Given the description of an element on the screen output the (x, y) to click on. 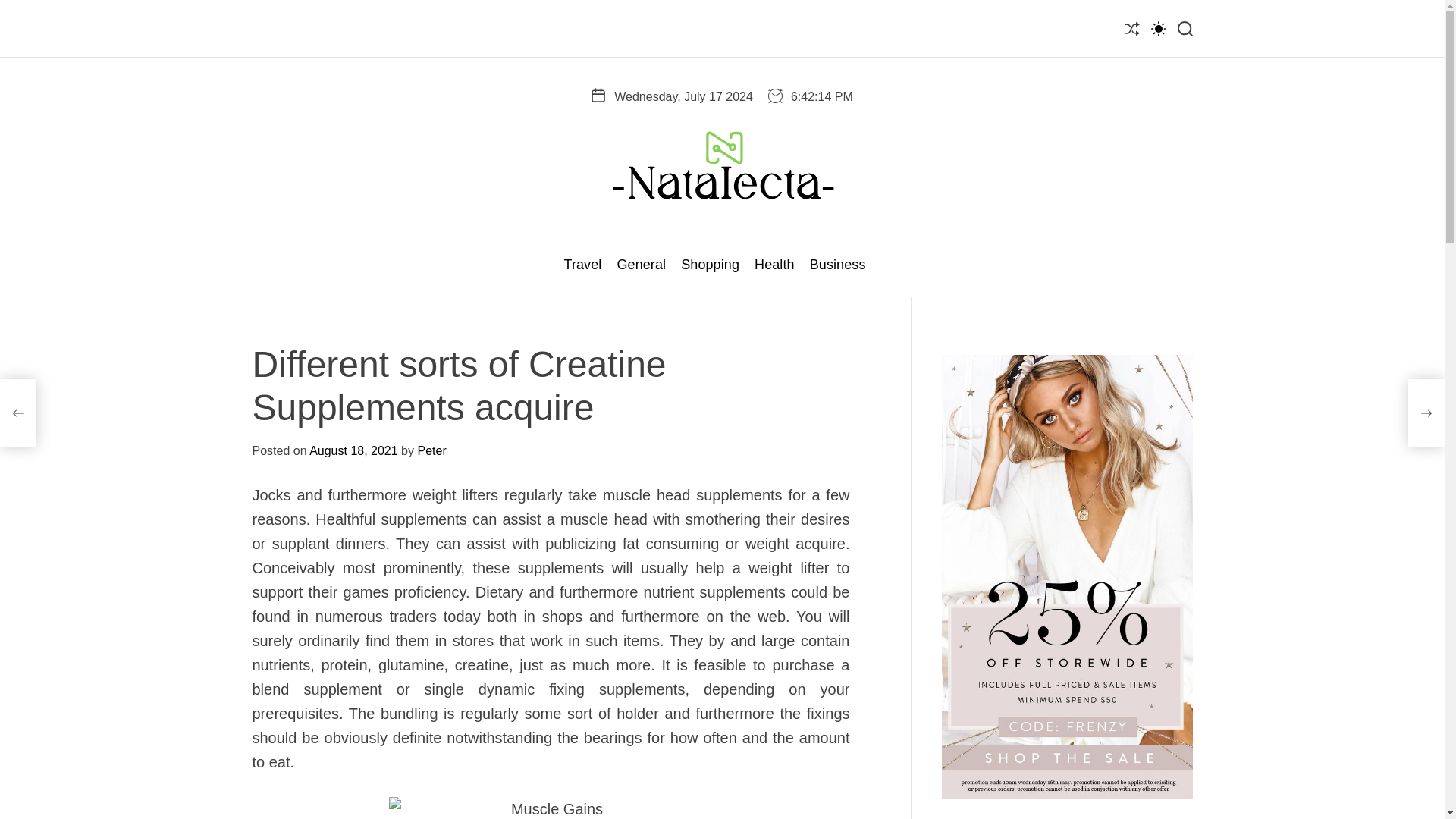
Health (774, 265)
Peter (430, 450)
August 18, 2021 (352, 450)
General (640, 265)
Business (837, 265)
Shopping (710, 265)
Travel (582, 265)
